Given the description of an element on the screen output the (x, y) to click on. 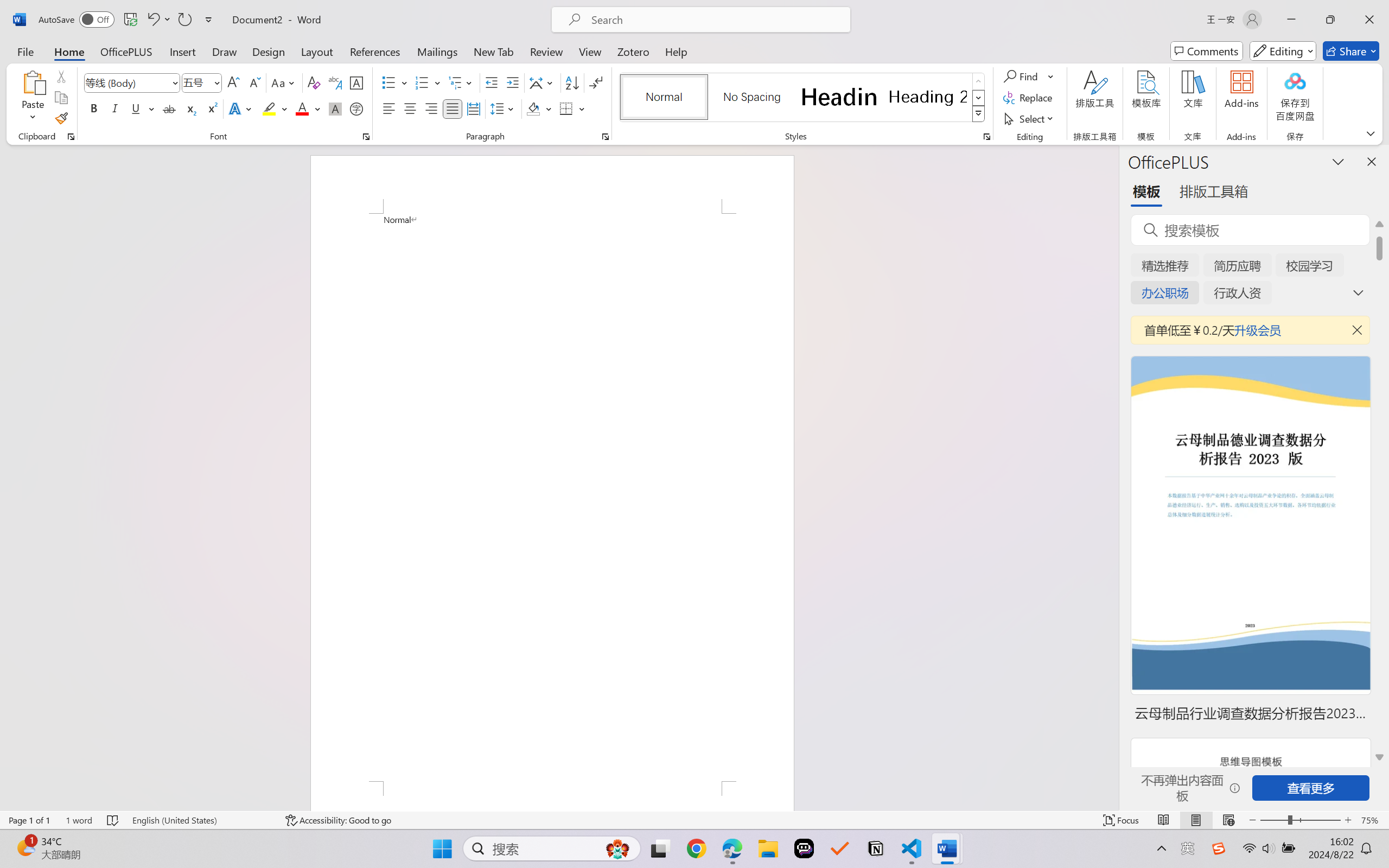
Grow Font (233, 82)
Print Layout (1196, 819)
Paste (33, 81)
Paste (33, 97)
Mailings (437, 51)
AutomationID: QuickStylesGallery (802, 97)
References (375, 51)
Subscript (190, 108)
Change Case (284, 82)
Font (132, 82)
Font Color (308, 108)
